Given the description of an element on the screen output the (x, y) to click on. 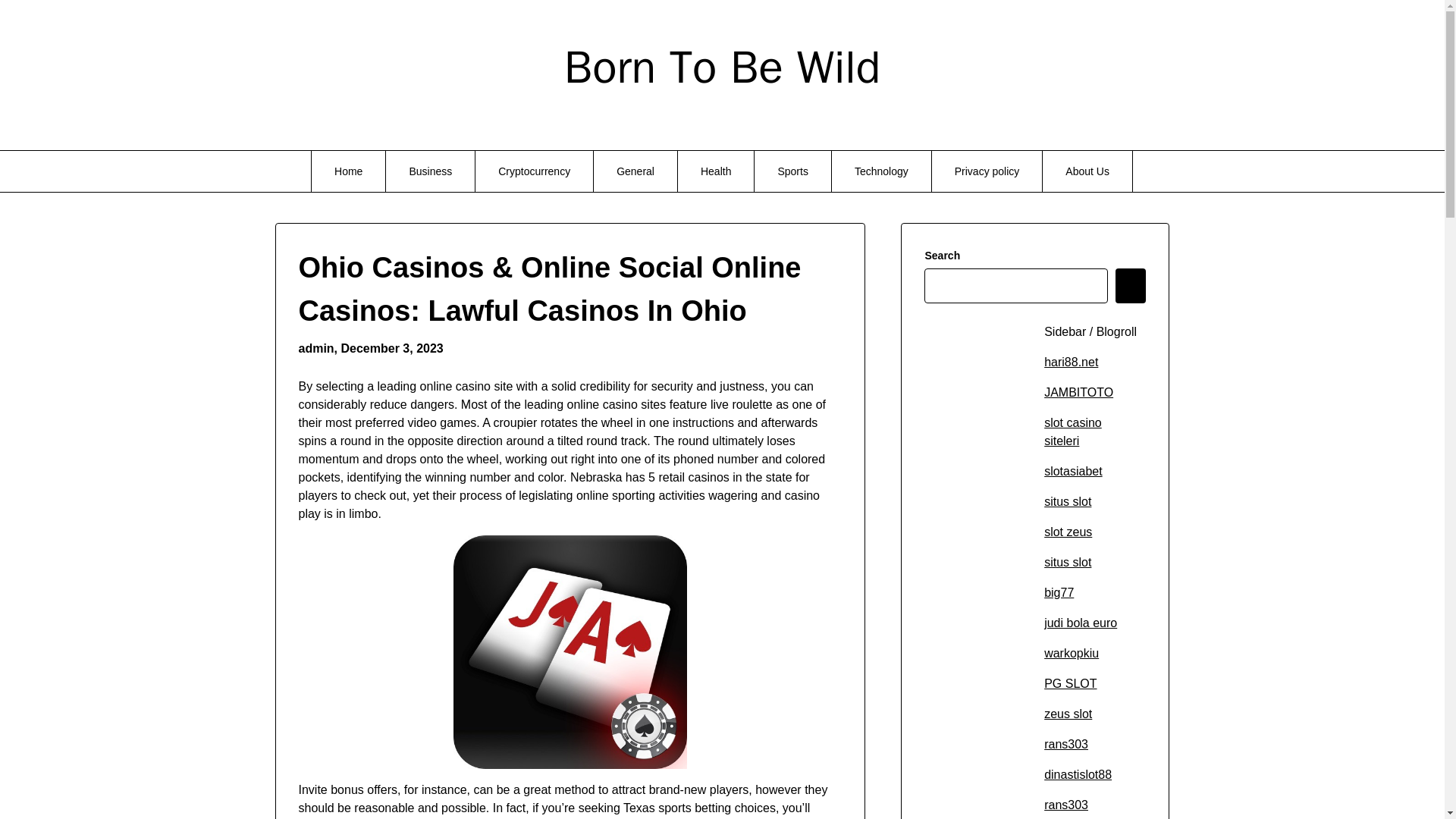
Home (348, 170)
dinastislot88 (1077, 774)
hari88.net (1070, 361)
Business (429, 170)
About Us (1087, 170)
Sports (791, 170)
Health (716, 170)
slot zeus (1067, 531)
Privacy policy (986, 170)
slot casino siteleri (1072, 431)
